Given the description of an element on the screen output the (x, y) to click on. 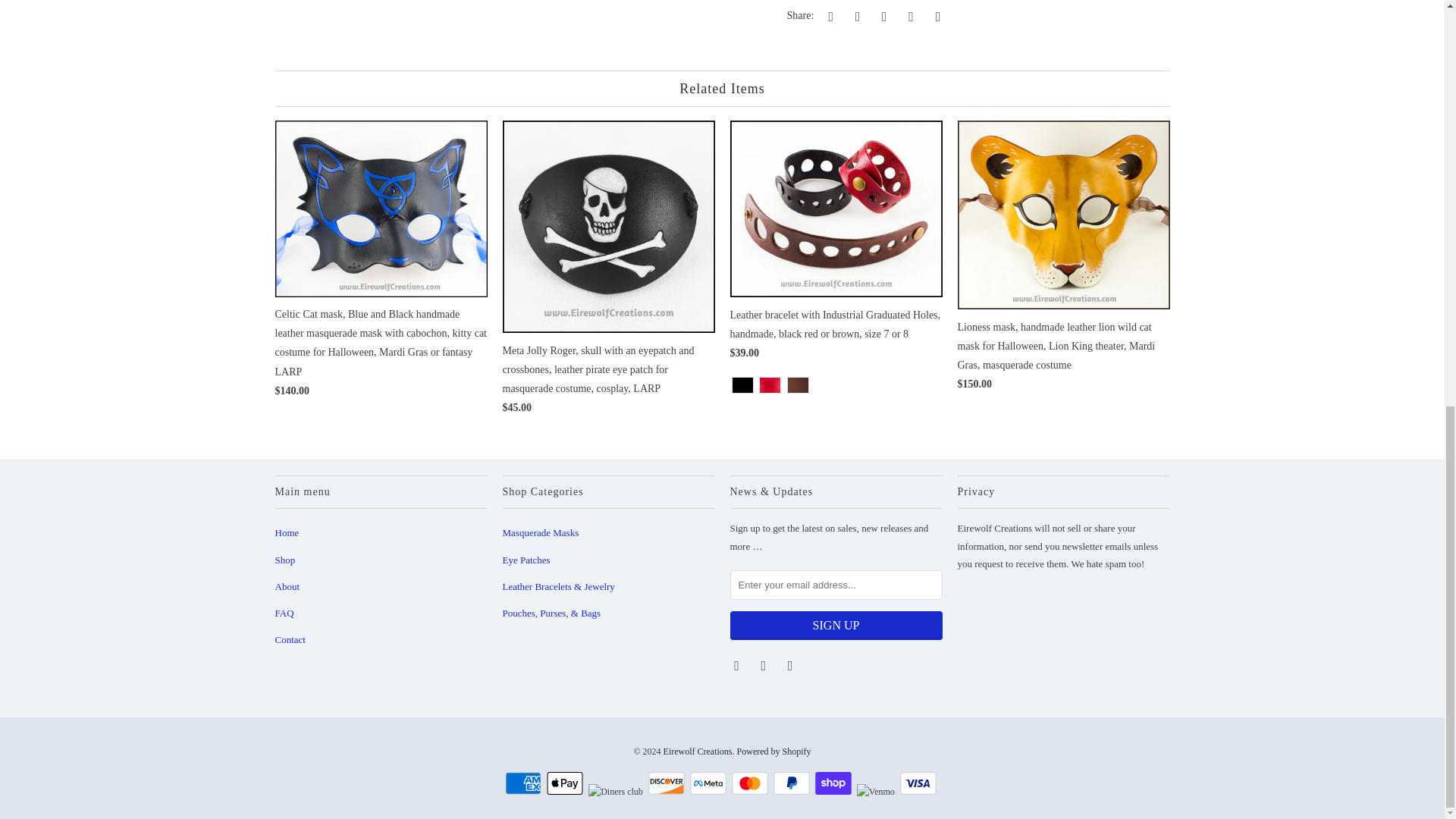
Sign Up (835, 624)
